Given the description of an element on the screen output the (x, y) to click on. 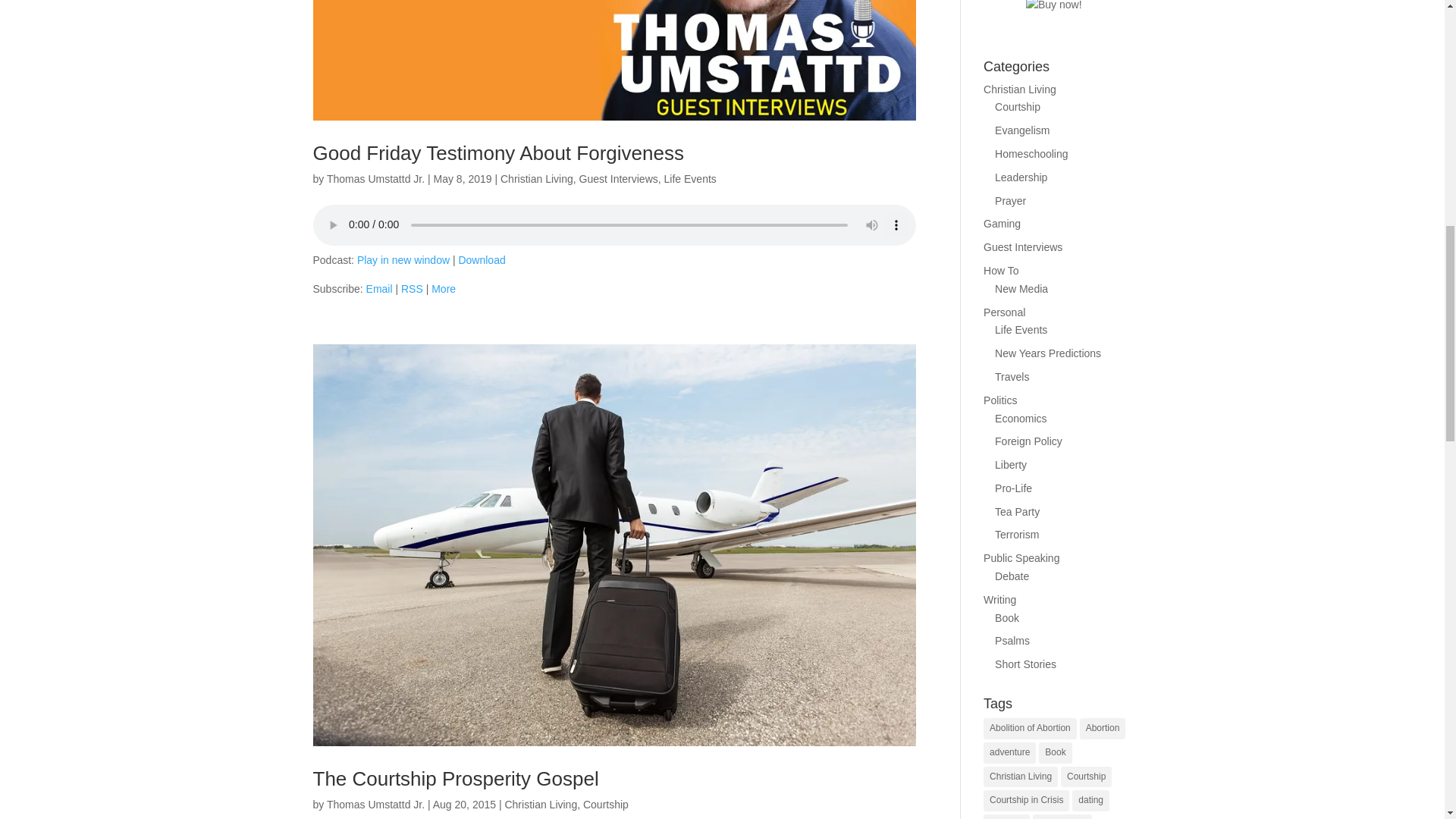
Courtship (605, 804)
Thomas Umstattd Jr. (375, 178)
Subscribe by Email (379, 288)
Christian Living (539, 804)
Download (481, 259)
Download (481, 259)
Christian Living (536, 178)
Thomas Umstattd Jr. (375, 804)
Subscribe via RSS (412, 288)
The Courtship Prosperity Gospel (455, 778)
